Given the description of an element on the screen output the (x, y) to click on. 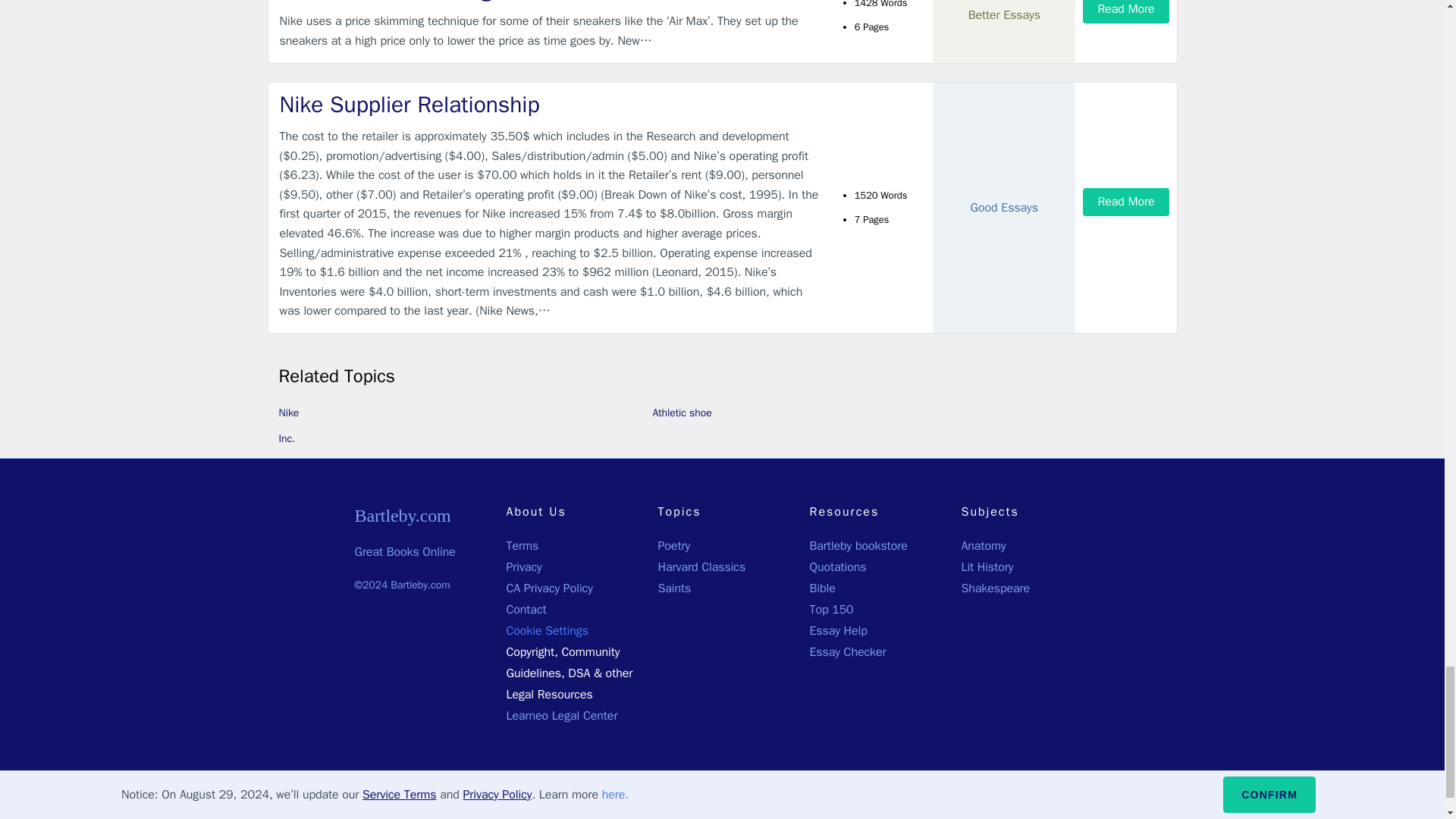
Nike (289, 412)
Athletic shoe (681, 412)
Inc. (287, 438)
